Given the description of an element on the screen output the (x, y) to click on. 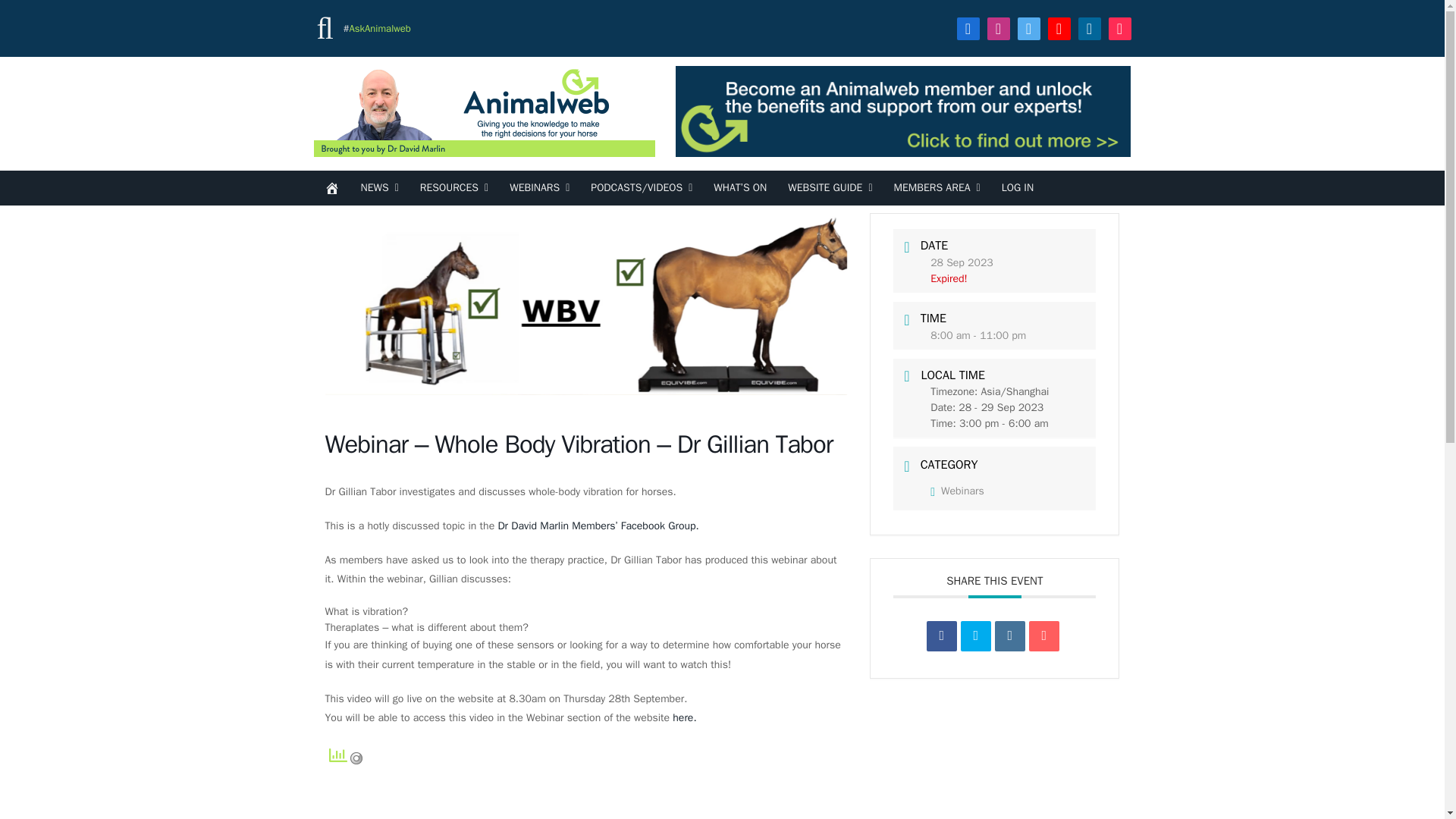
WEBINARS (539, 187)
Share on Facebook (941, 635)
NEWS (379, 187)
Linkedin (1009, 635)
YouTube (1059, 27)
LinkedIn (1089, 27)
Email (1044, 635)
Facebook (967, 27)
Instagram (998, 27)
RESOURCES (454, 187)
